Given the description of an element on the screen output the (x, y) to click on. 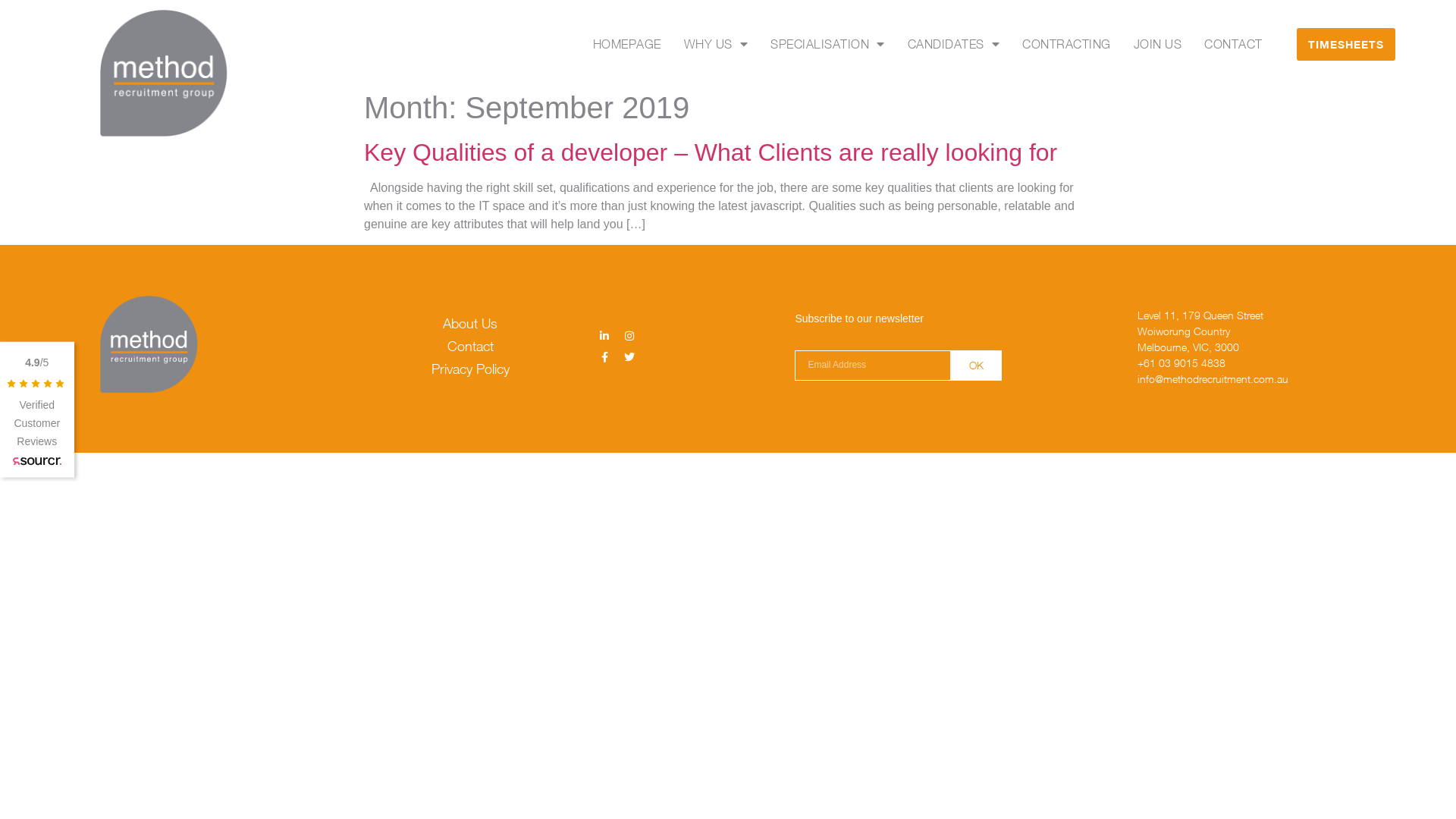
WHY US Element type: text (715, 43)
CONTACT Element type: text (1233, 43)
CANDIDATES Element type: text (953, 43)
JOIN US Element type: text (1157, 43)
About Us Element type: text (470, 323)
HOMEPAGE Element type: text (626, 43)
TIMESHEETS Element type: text (1345, 43)
CONTRACTING Element type: text (1066, 43)
OK Element type: text (975, 365)
SPECIALISATION Element type: text (827, 43)
+61 03 9015 4838 Element type: text (1232, 362)
info@methodrecruitment.com.au Element type: text (1232, 378)
Privacy Policy Element type: text (470, 368)
Contact Element type: text (470, 346)
